Given the description of an element on the screen output the (x, y) to click on. 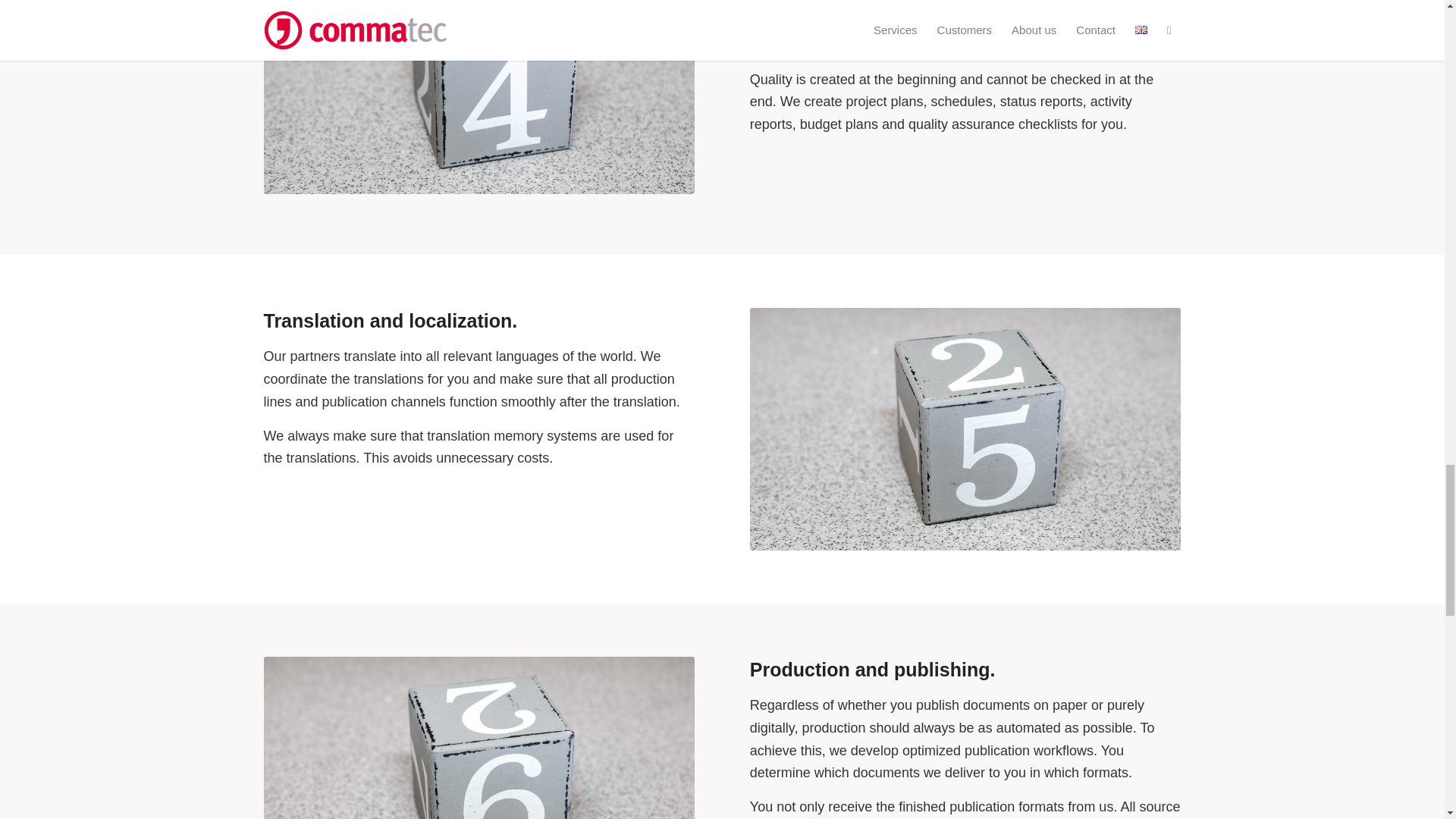
w-5 (964, 428)
w-6 (479, 737)
w-4 (479, 97)
